Given the description of an element on the screen output the (x, y) to click on. 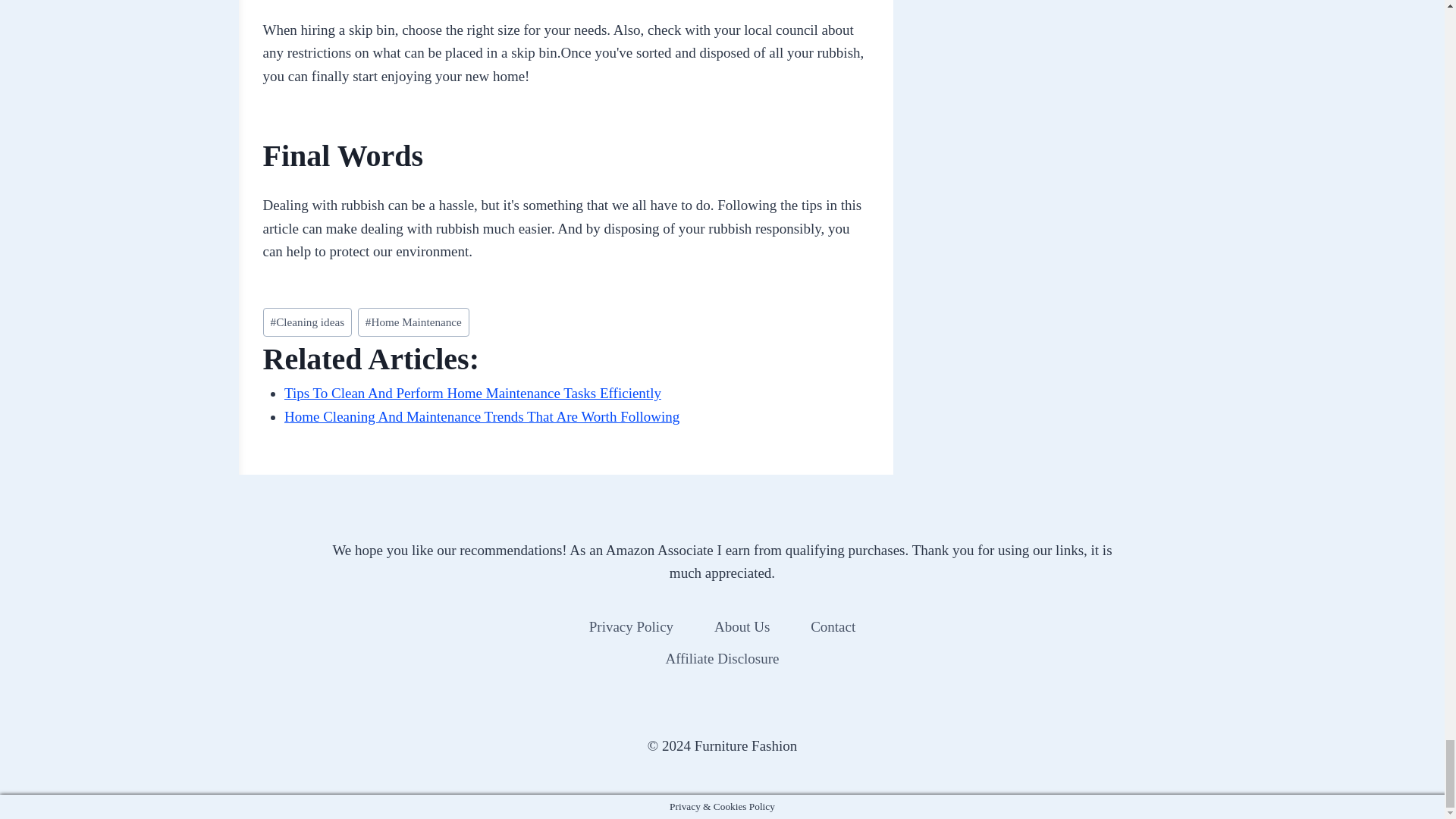
Home Maintenance (413, 321)
Cleaning ideas (307, 321)
